Given the description of an element on the screen output the (x, y) to click on. 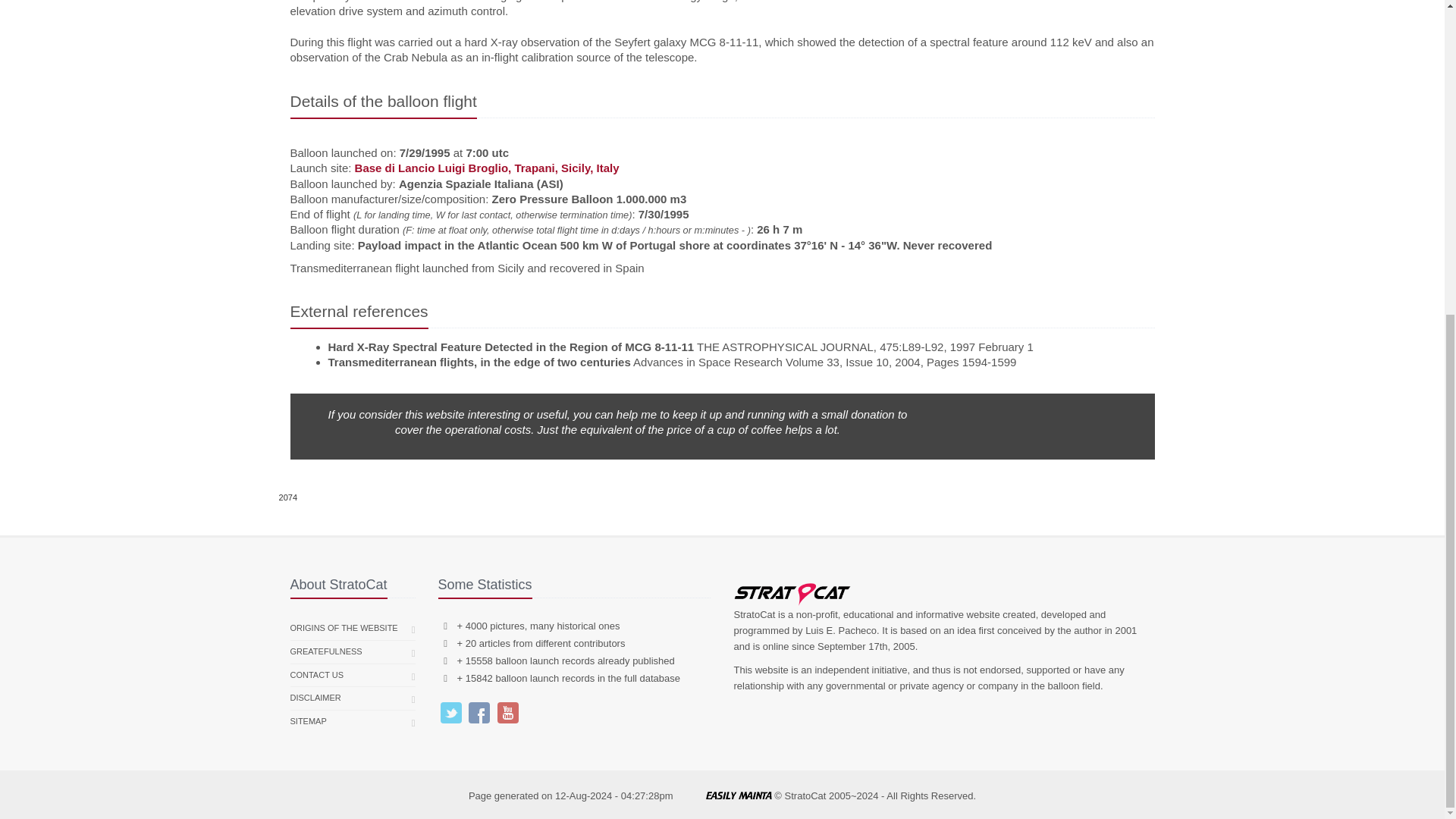
SITEMAP (307, 721)
CONTACT US (316, 675)
GREATEFULNESS (325, 651)
Base di Lancio Luigi Broglio, Trapani, Sicily, Italy (487, 167)
Transmediterranean flights, in the edge of two centuries (478, 361)
ORIGINS OF THE WEBSITE (343, 628)
DISCLAIMER (314, 698)
